Given the description of an element on the screen output the (x, y) to click on. 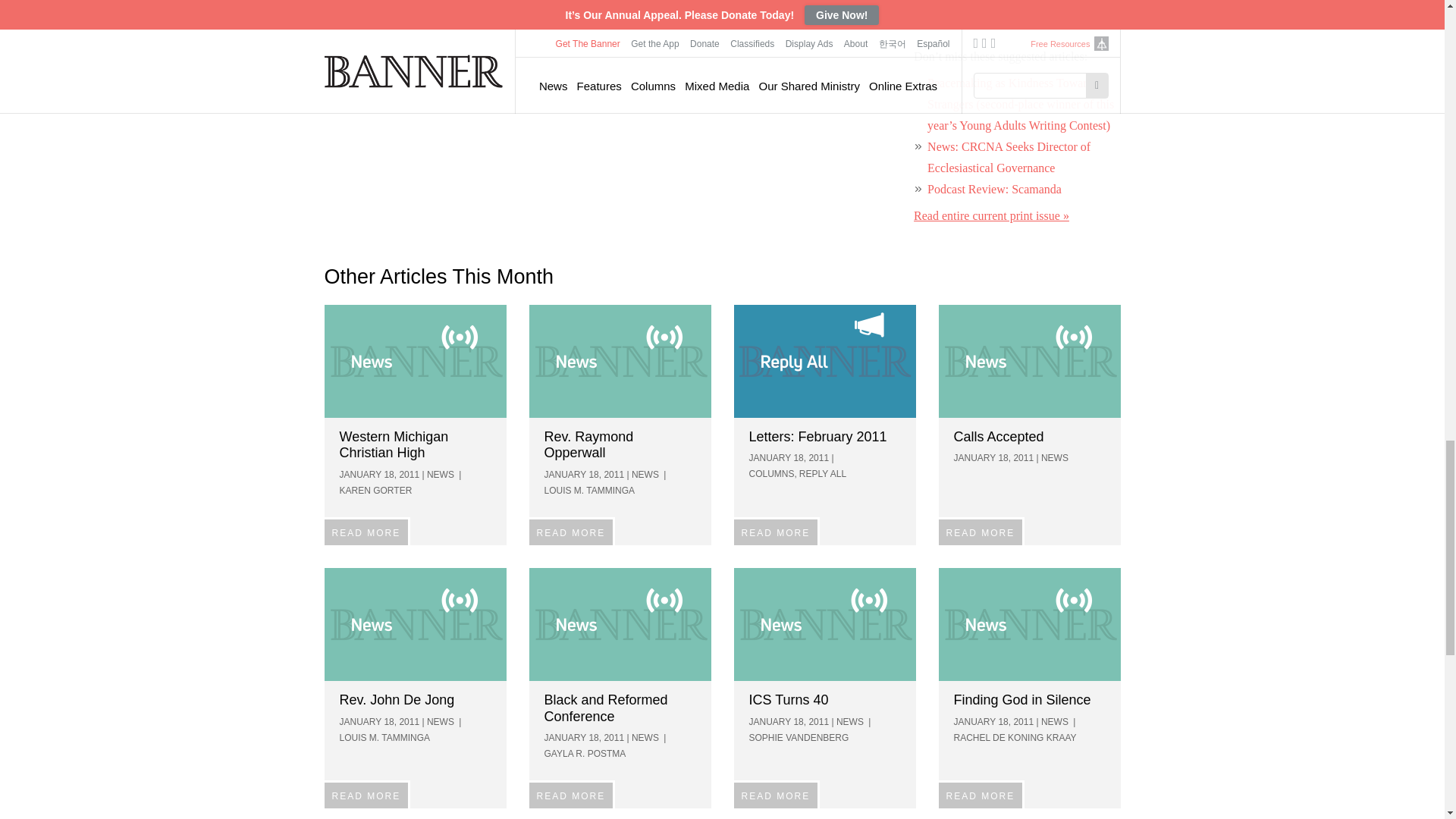
News (620, 360)
News (620, 624)
IMAGE: (415, 360)
News (1030, 624)
News: CRCNA Seeks Director of Ecclesiastical Governance (1008, 157)
News (415, 624)
Podcast Review: Scamanda (994, 188)
News (1030, 360)
News (824, 624)
News (415, 360)
